Given the description of an element on the screen output the (x, y) to click on. 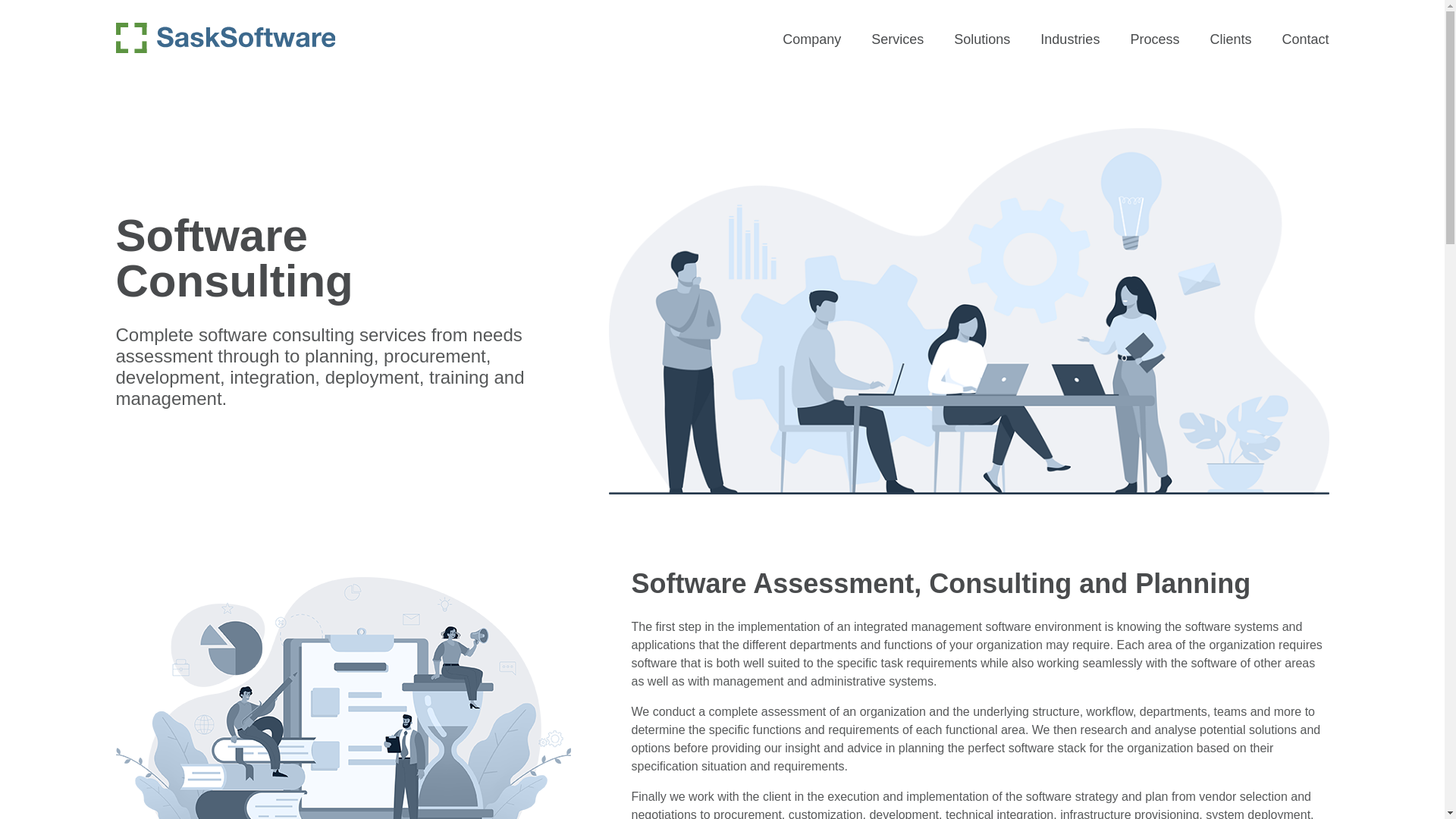
Solutions (981, 39)
Process (1154, 39)
Contact (1304, 39)
Clients (1229, 39)
Company (812, 39)
Industries (1070, 39)
Services (896, 39)
